Given the description of an element on the screen output the (x, y) to click on. 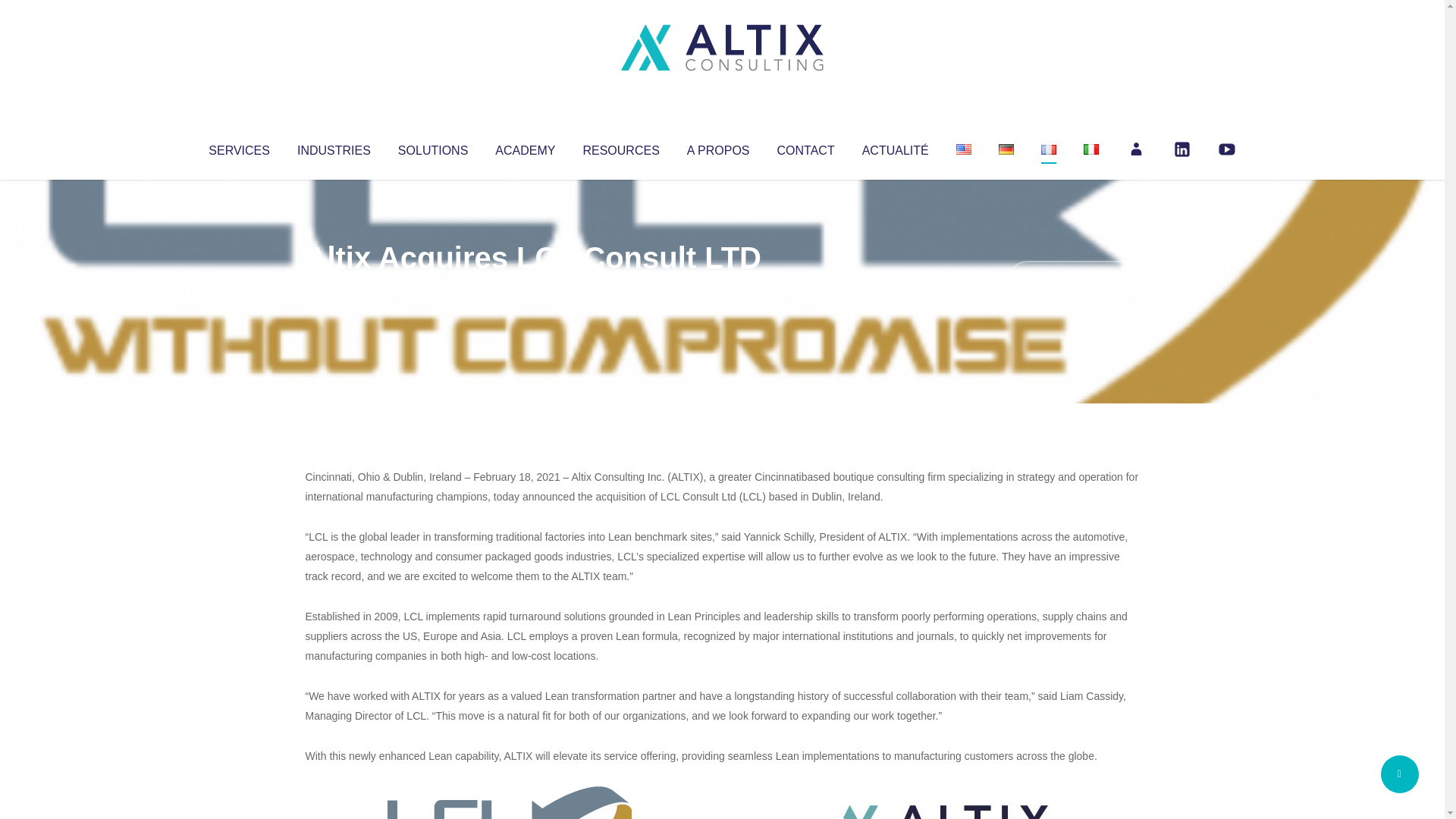
SOLUTIONS (432, 146)
SERVICES (238, 146)
Uncategorized (530, 287)
Articles par Altix (333, 287)
INDUSTRIES (334, 146)
A PROPOS (718, 146)
ACADEMY (524, 146)
No Comments (1073, 278)
RESOURCES (620, 146)
Altix (333, 287)
